Given the description of an element on the screen output the (x, y) to click on. 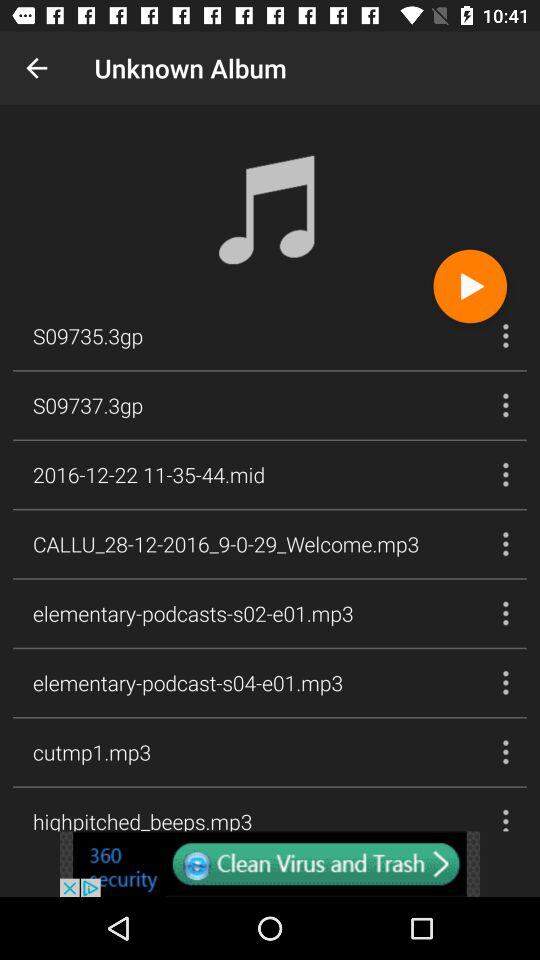
play music (470, 286)
